Given the description of an element on the screen output the (x, y) to click on. 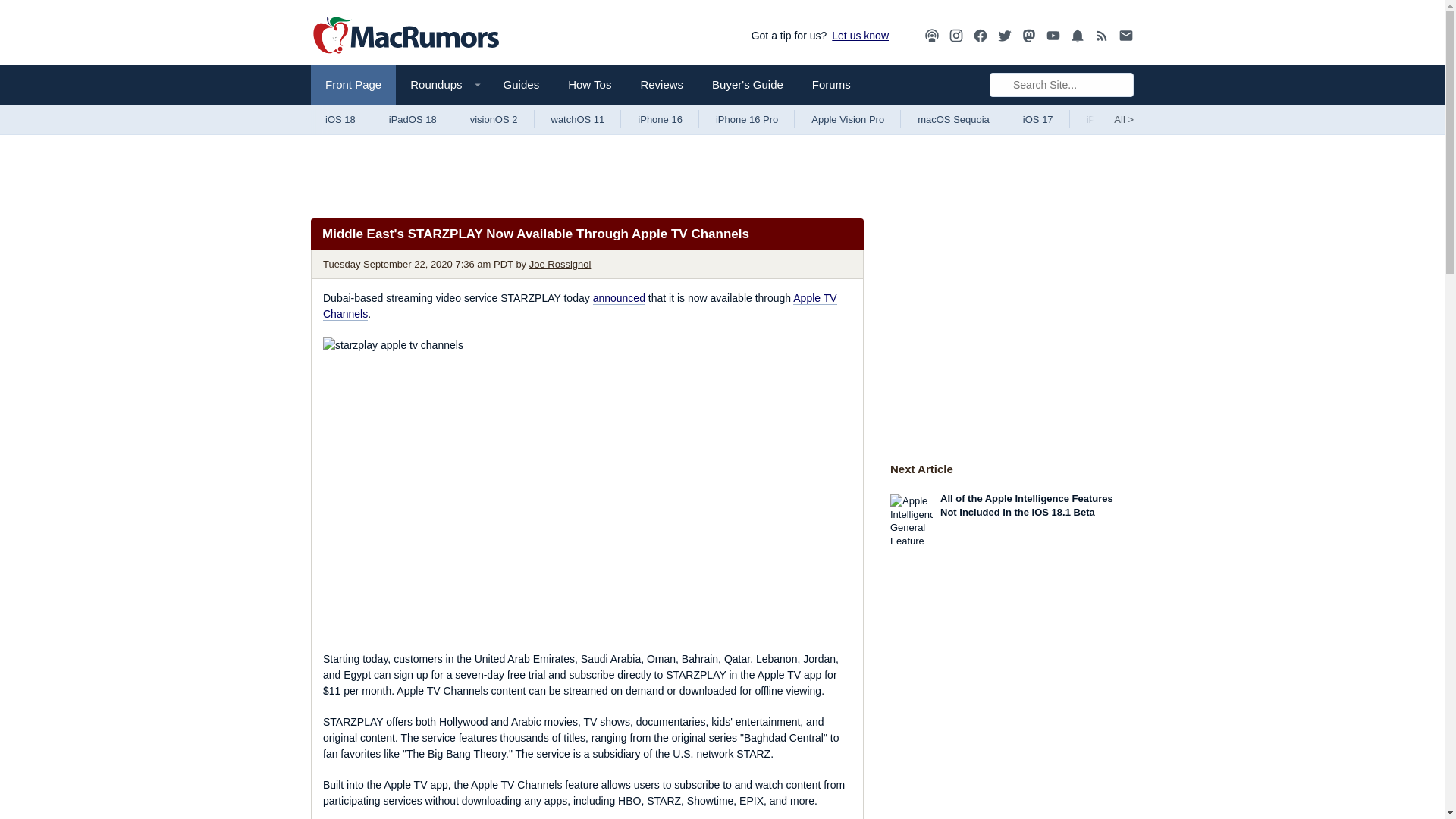
RSS (1101, 35)
MacRumors RSS Feed (1101, 35)
MacRumors YouTube Channel (1053, 35)
Roundups (441, 84)
Notifications (1077, 35)
MacRumors on Mastodon (1029, 35)
Apple, Mac, iPhone, iPad News and Rumors (405, 36)
Mastodon (1029, 35)
Instagram (956, 35)
Twitter (1004, 35)
MacRumors FaceBook Page (980, 35)
Facebook (980, 35)
Guides (521, 84)
Newsletter (1126, 35)
Front (353, 84)
